Given the description of an element on the screen output the (x, y) to click on. 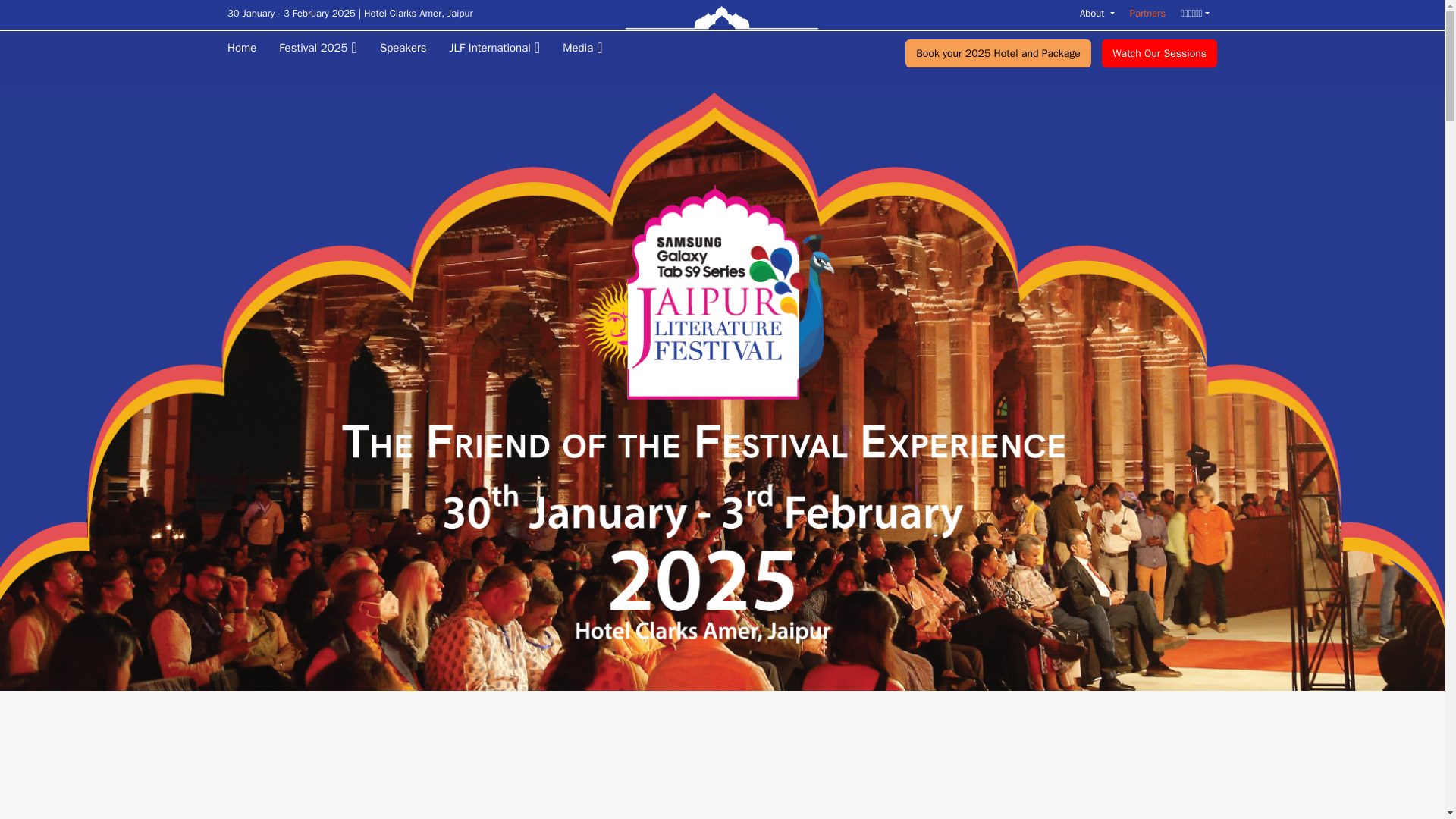
Book your 2025 Hotel and Package (997, 53)
Speakers (391, 48)
Speakers (391, 48)
Book your 2025 Hotel and Package (997, 53)
Watch Our Sessions (1159, 53)
Partners (1147, 12)
Home (241, 48)
Media (571, 48)
Festival 2025 (306, 48)
JLF International (483, 48)
Home (241, 48)
Watch Our Sessions (1159, 53)
